Given the description of an element on the screen output the (x, y) to click on. 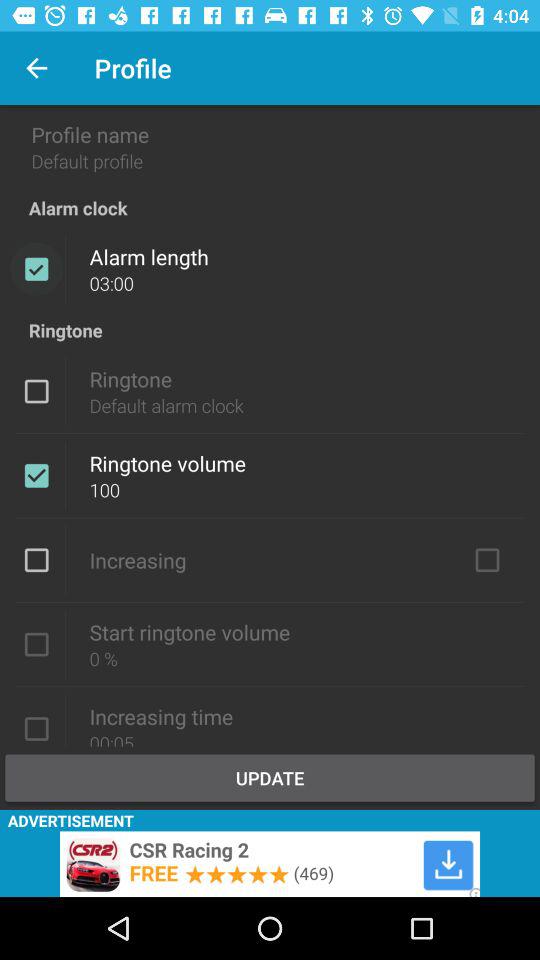
select increasing option (487, 560)
